Given the description of an element on the screen output the (x, y) to click on. 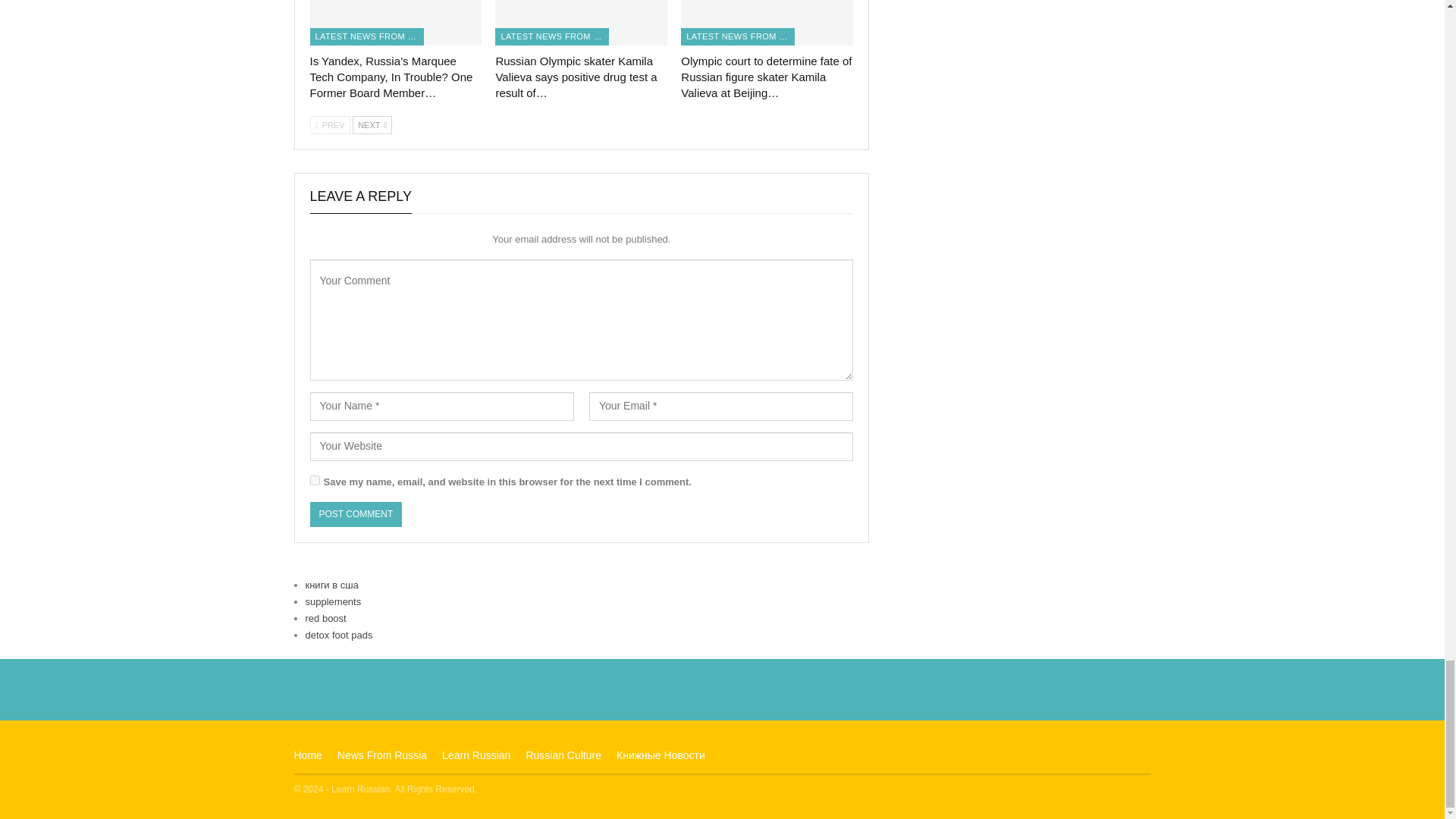
LATEST NEWS FROM RUSSIA (365, 36)
Post Comment (354, 514)
yes (313, 480)
LATEST NEWS FROM RUSSIA (551, 36)
